Given the description of an element on the screen output the (x, y) to click on. 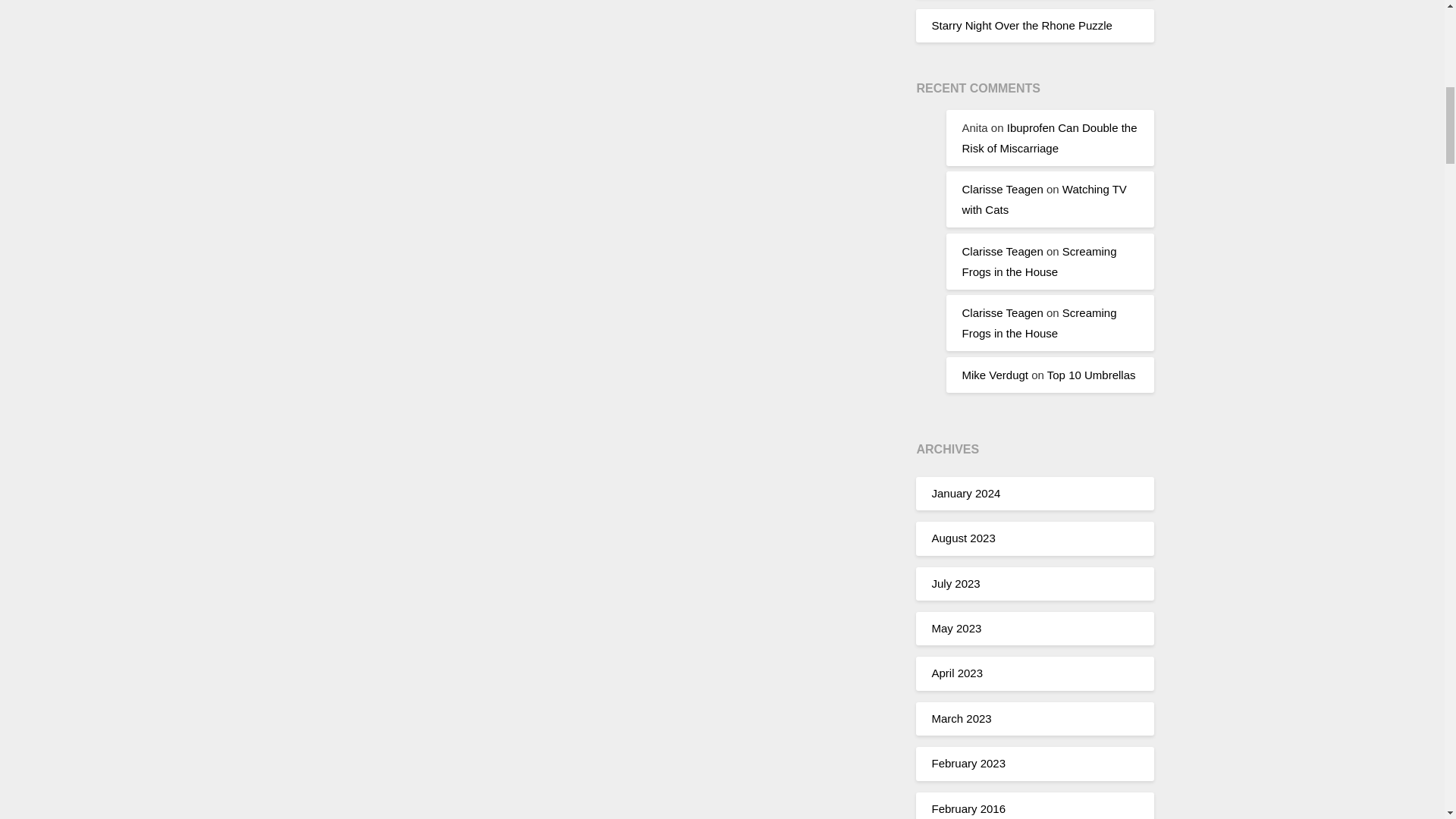
January 2024 (965, 492)
May 2023 (956, 627)
March 2023 (961, 717)
Screaming Frogs in the House (1038, 261)
Starry Night Over the Rhone Puzzle (1021, 24)
February 2023 (968, 762)
August 2023 (962, 537)
July 2023 (955, 583)
Clarisse Teagen (1001, 312)
Screaming Frogs in the House (1038, 322)
